Given the description of an element on the screen output the (x, y) to click on. 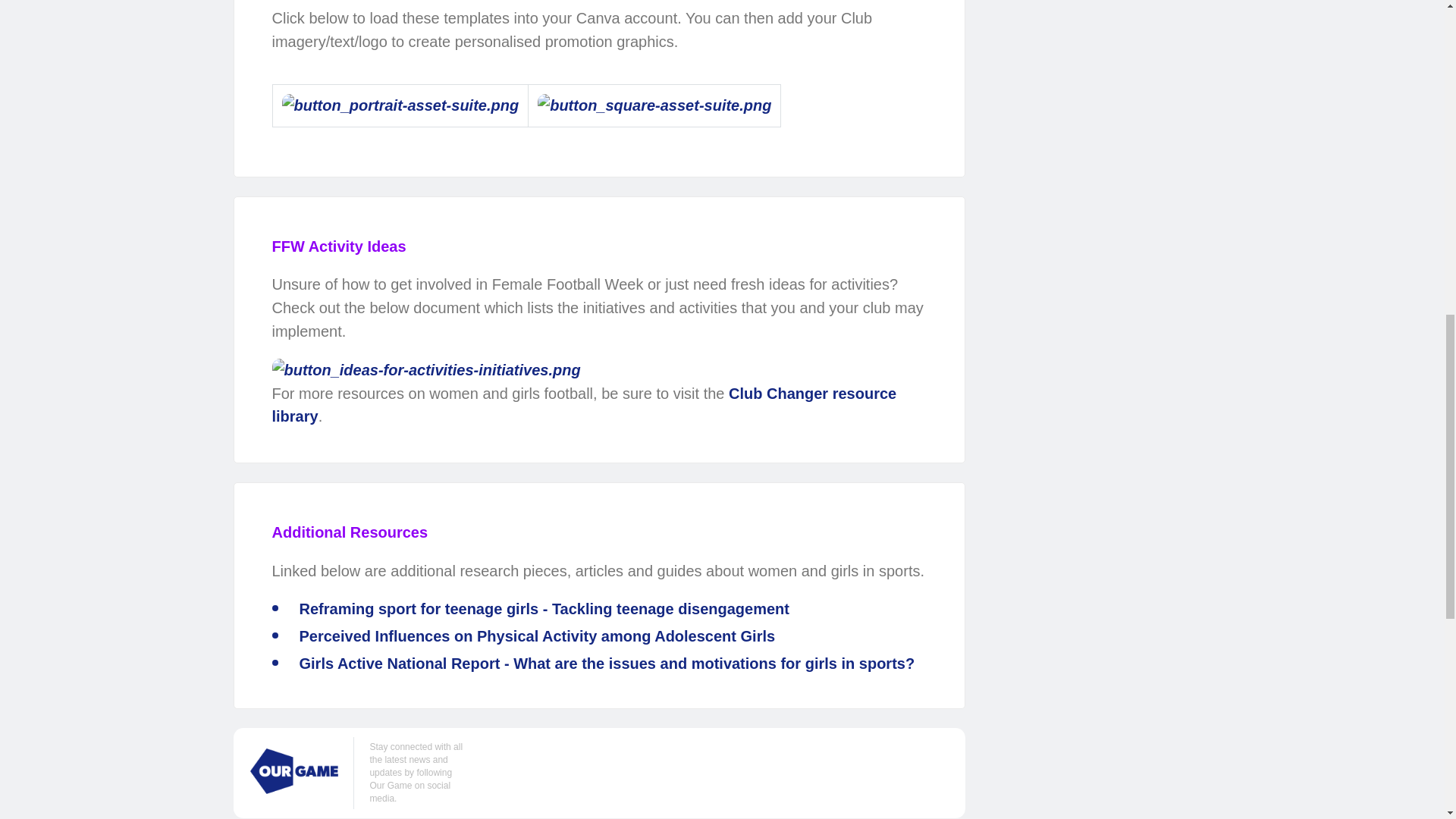
Club Changer resource library (583, 404)
